Given the description of an element on the screen output the (x, y) to click on. 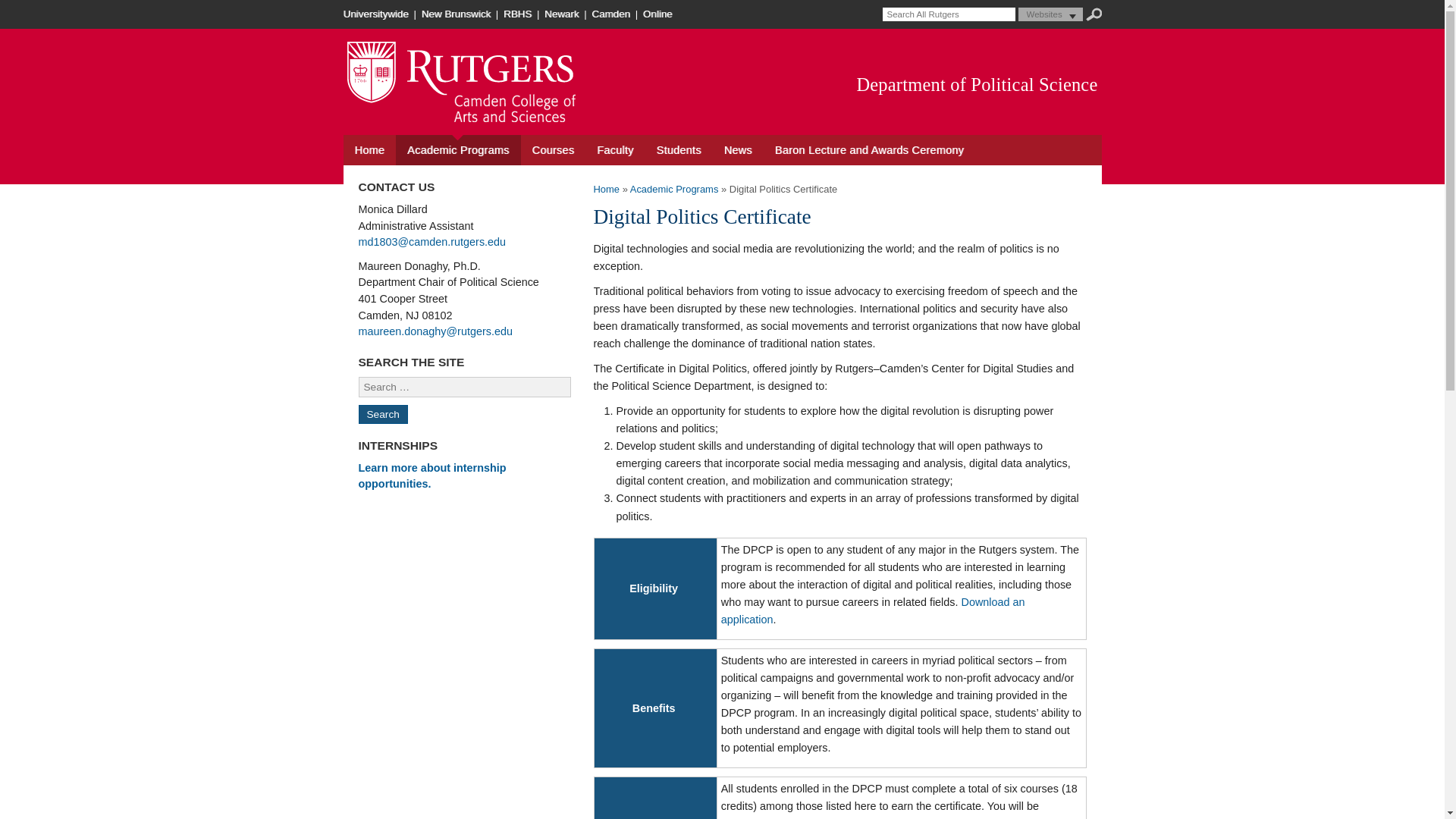
Rutgers Biomedical and Health Sciences home page (518, 14)
News (737, 150)
Go to Department of Political Science. (606, 188)
Go to Camden College of Arts and Sciences site (490, 119)
Newark (562, 14)
Academic Programs (457, 150)
Search (1094, 14)
Universitywide (376, 14)
Rutgers Online home page (659, 14)
New Brunswick (457, 14)
